Given the description of an element on the screen output the (x, y) to click on. 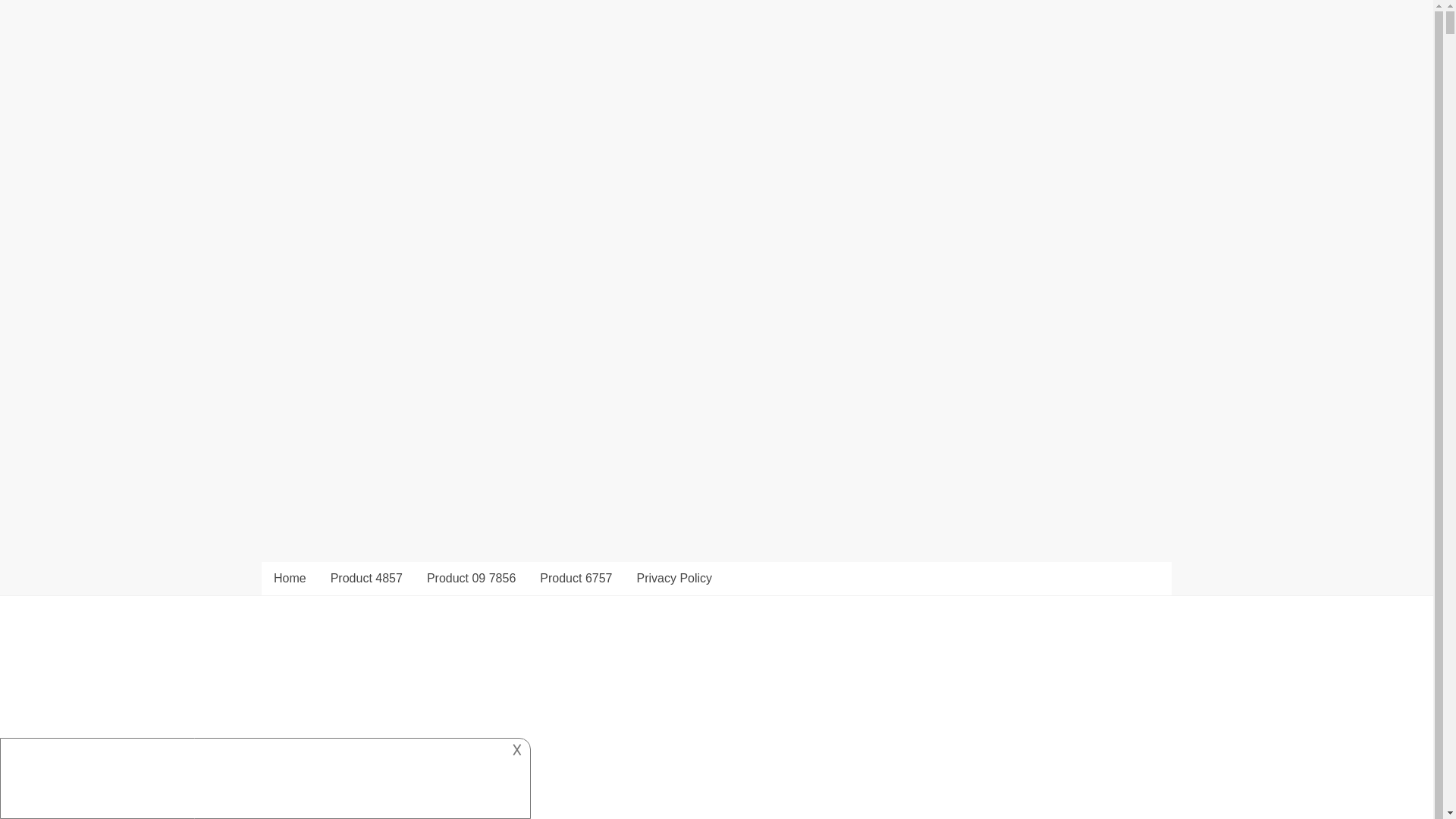
Product 6757 (575, 578)
Home (290, 578)
Product 09 7856 (470, 578)
Product 4857 (366, 578)
Privacy Policy (673, 578)
